Given the description of an element on the screen output the (x, y) to click on. 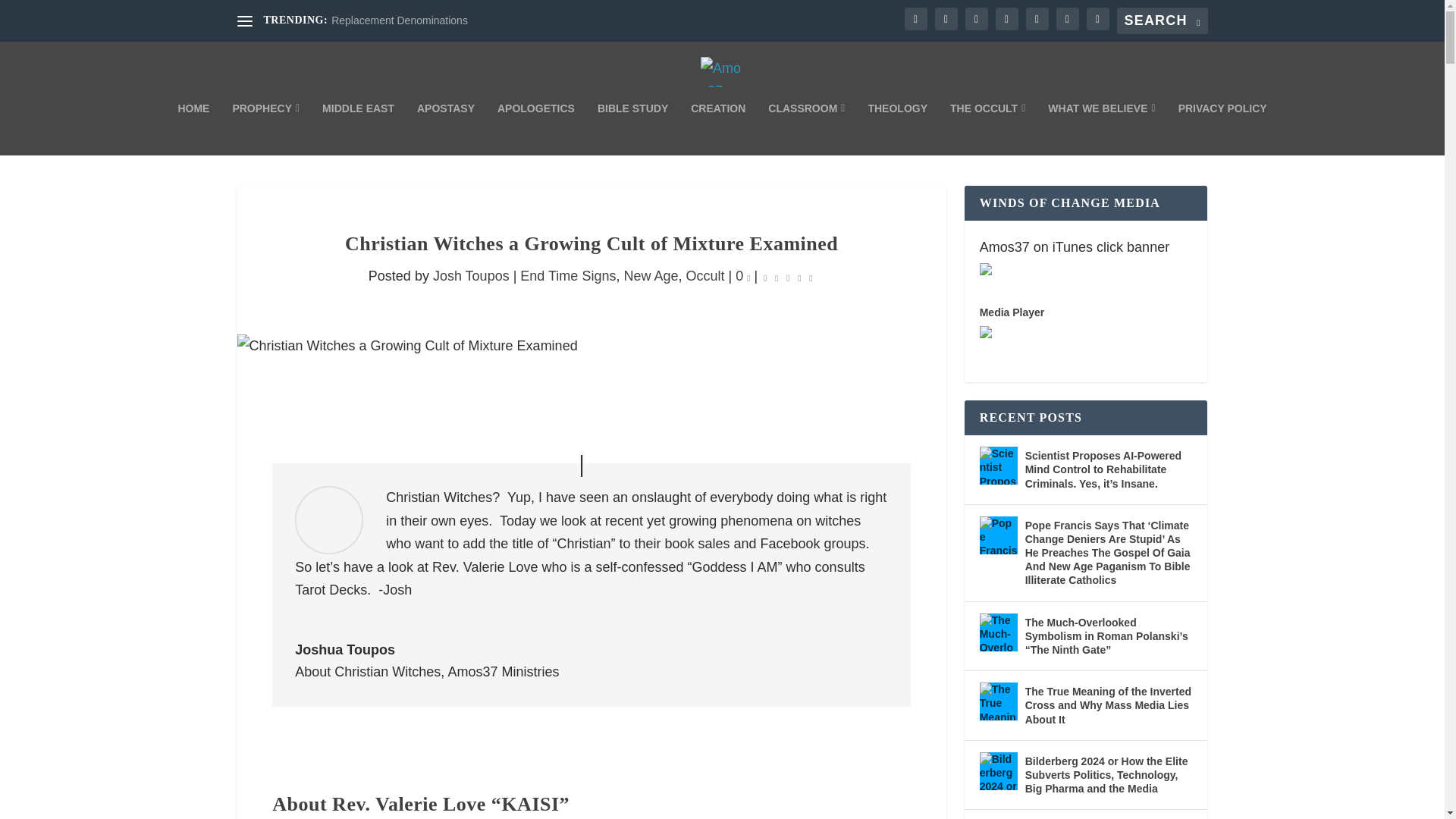
MIDDLE EAST (357, 128)
APOSTASY (445, 128)
PROPHECY (265, 128)
CLASSROOM (806, 128)
PRIVACY POLICY (1221, 128)
THE OCCULT (987, 128)
WHAT WE BELIEVE (1101, 128)
Search for: (1161, 20)
CREATION (717, 128)
BIBLE STUDY (632, 128)
